Given the description of an element on the screen output the (x, y) to click on. 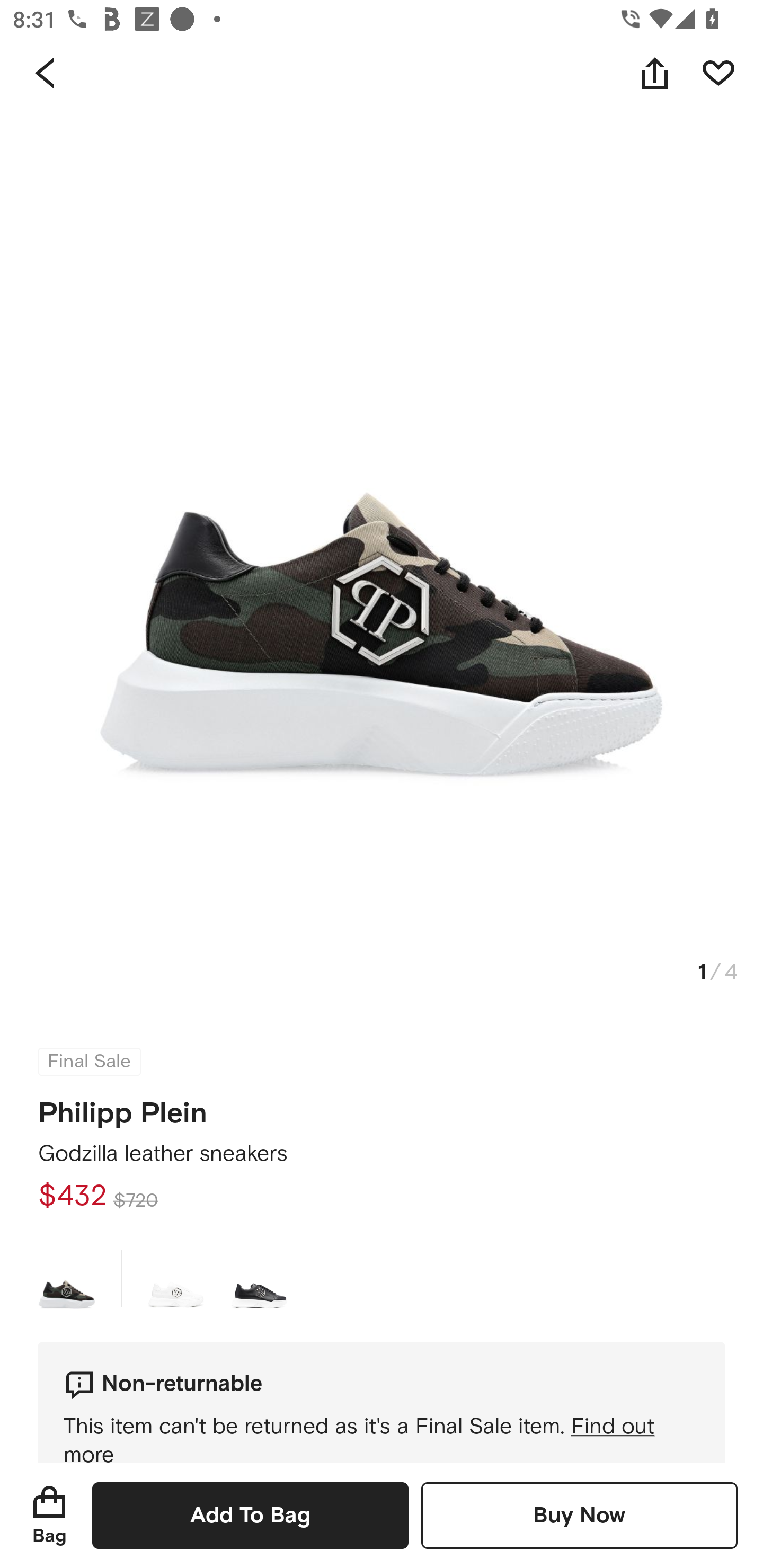
Philipp Plein (122, 1107)
Bag (49, 1515)
Add To Bag (250, 1515)
Buy Now (579, 1515)
